Given the description of an element on the screen output the (x, y) to click on. 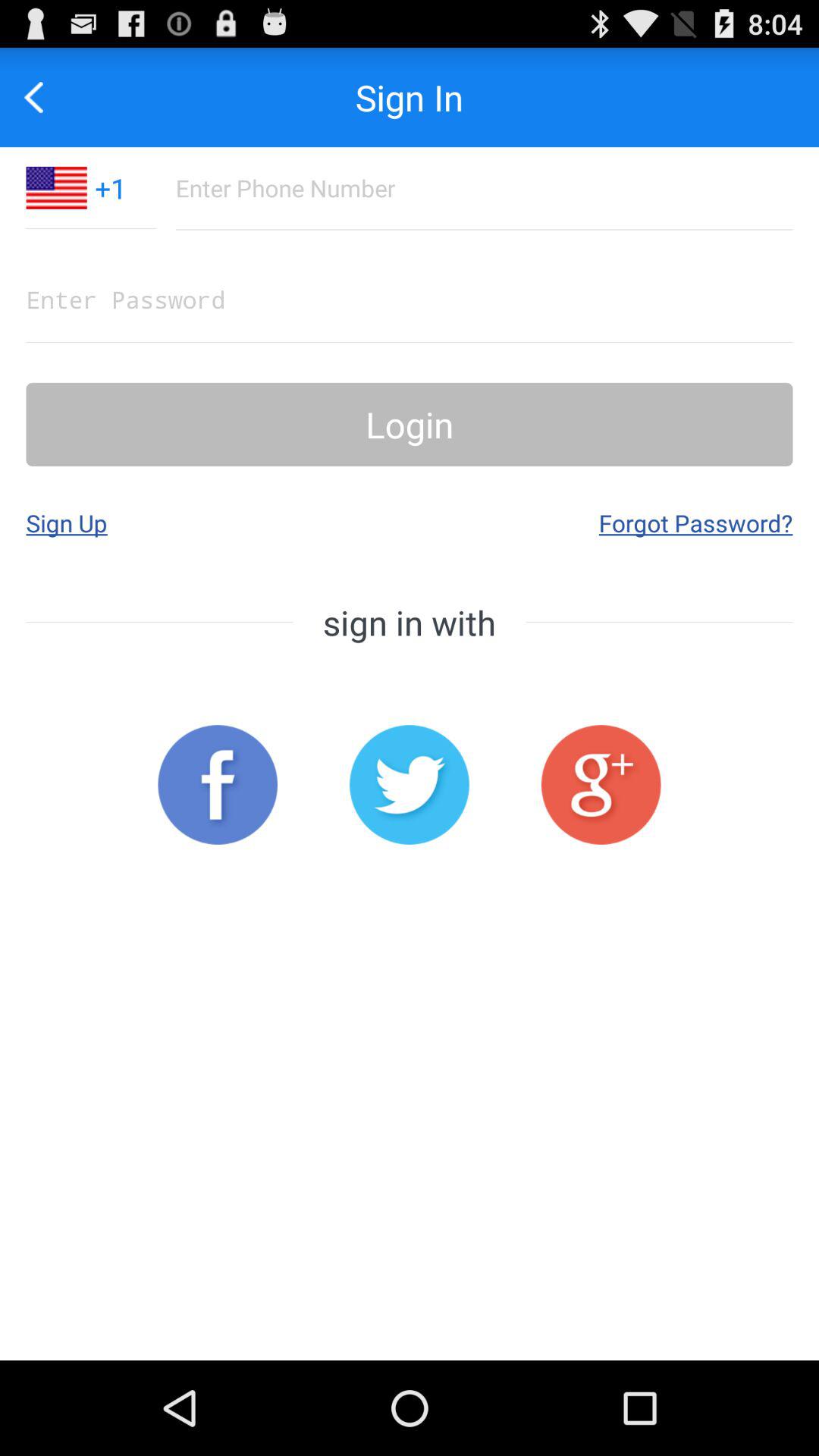
tap forgot password? (695, 522)
